Given the description of an element on the screen output the (x, y) to click on. 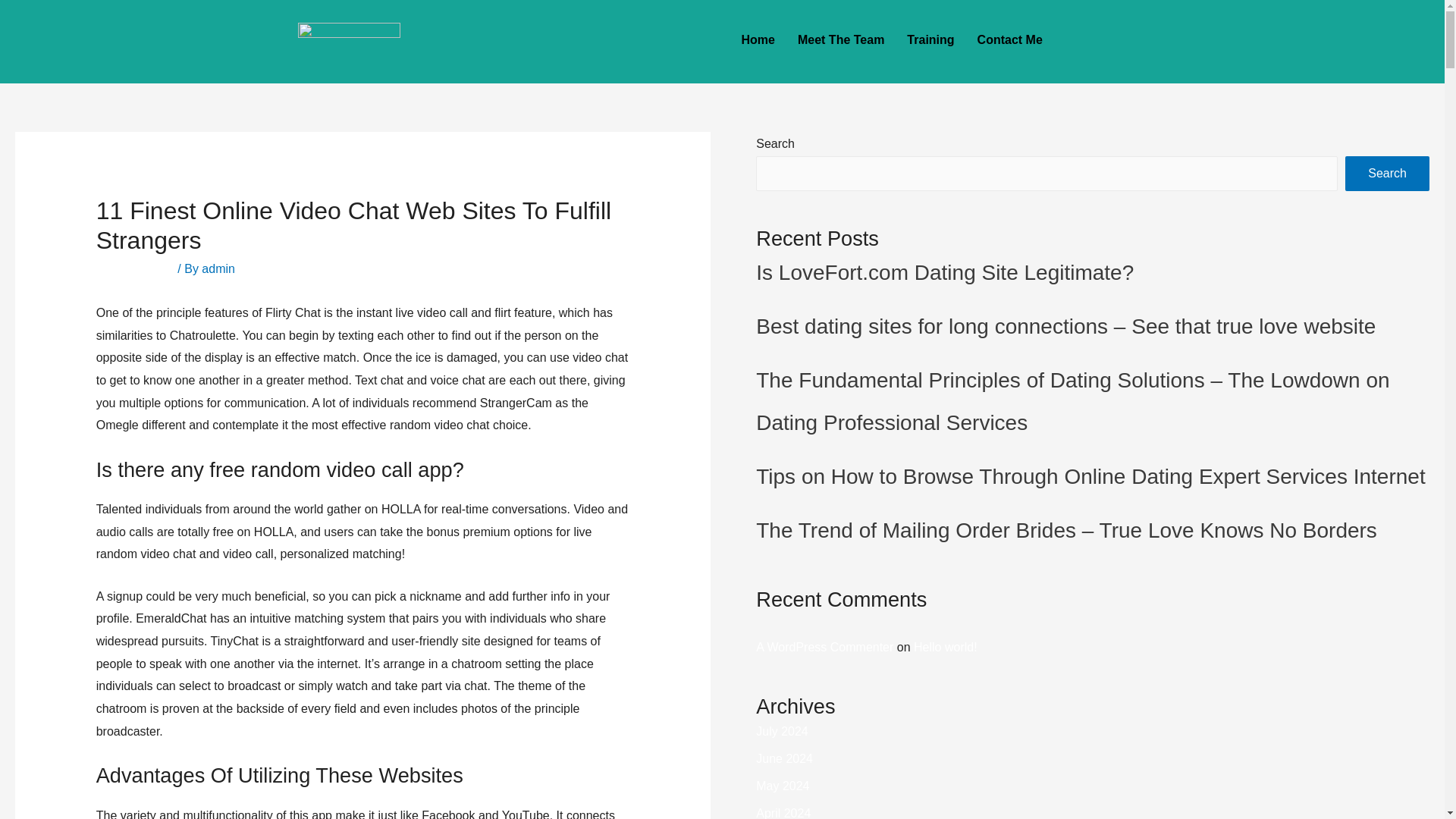
June 2024 (783, 758)
May 2024 (782, 785)
Home (757, 39)
July 2024 (781, 730)
A WordPress Commenter (824, 646)
Hello world! (945, 646)
View all posts by admin (218, 268)
Uncategorized (135, 268)
Is LoveFort.com Dating Site Legitimate? (944, 272)
Meet The Team (840, 39)
